Given the description of an element on the screen output the (x, y) to click on. 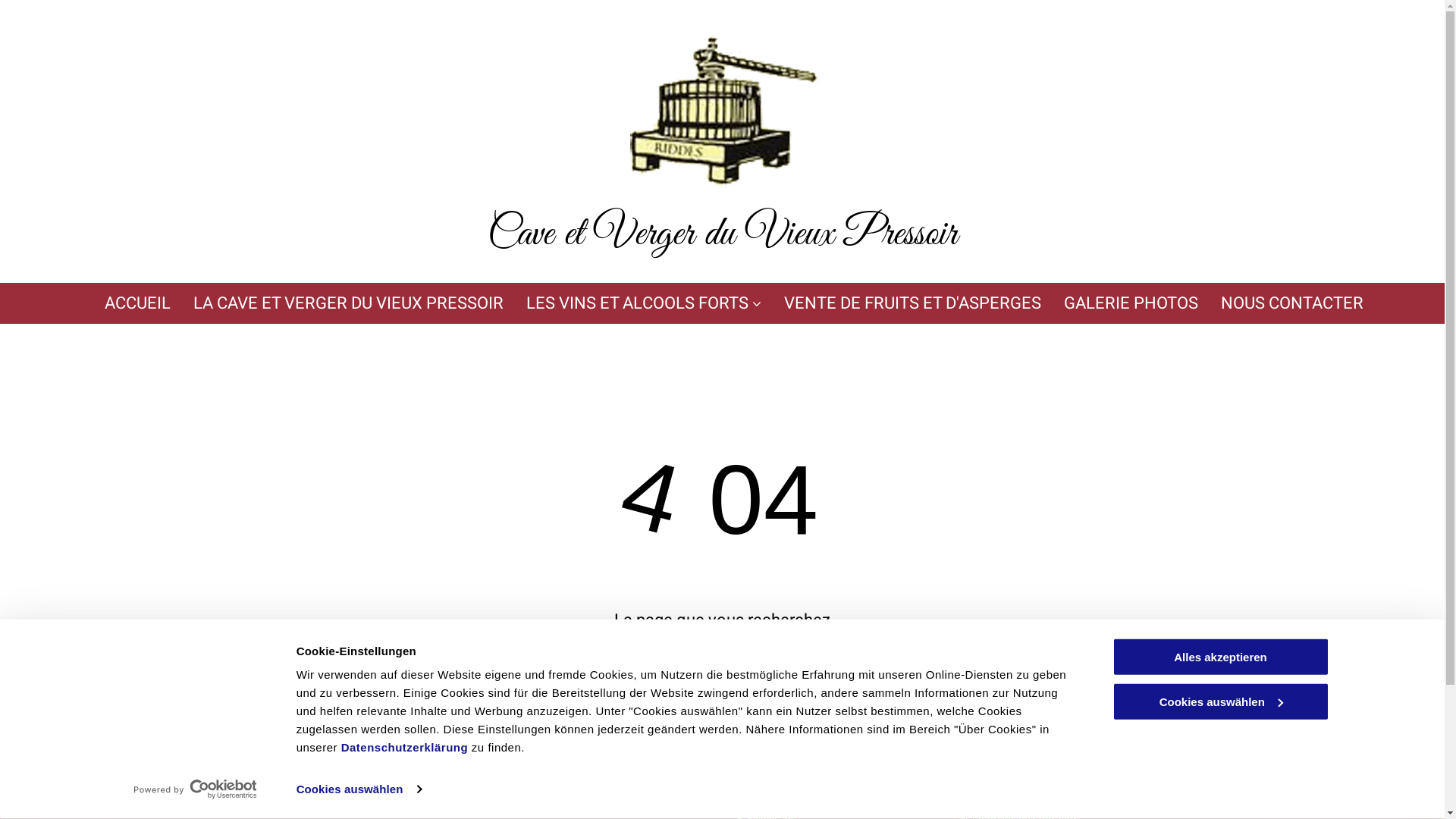
LA CAVE ET VERGER DU VIEUX PRESSOIR Element type: text (347, 303)
NOUS CONTACTER Element type: text (1291, 303)
GALERIE PHOTOS Element type: text (1130, 303)
LES VINS ET ALCOOLS FORTS Element type: text (643, 303)
+41 79 221 03 86 Element type: text (552, 809)
ACCUEIL Element type: text (137, 303)
VENTE DE FRUITS ET D'ASPERGES Element type: text (912, 303)
Alles akzeptieren Element type: text (1219, 656)
